Given the description of an element on the screen output the (x, y) to click on. 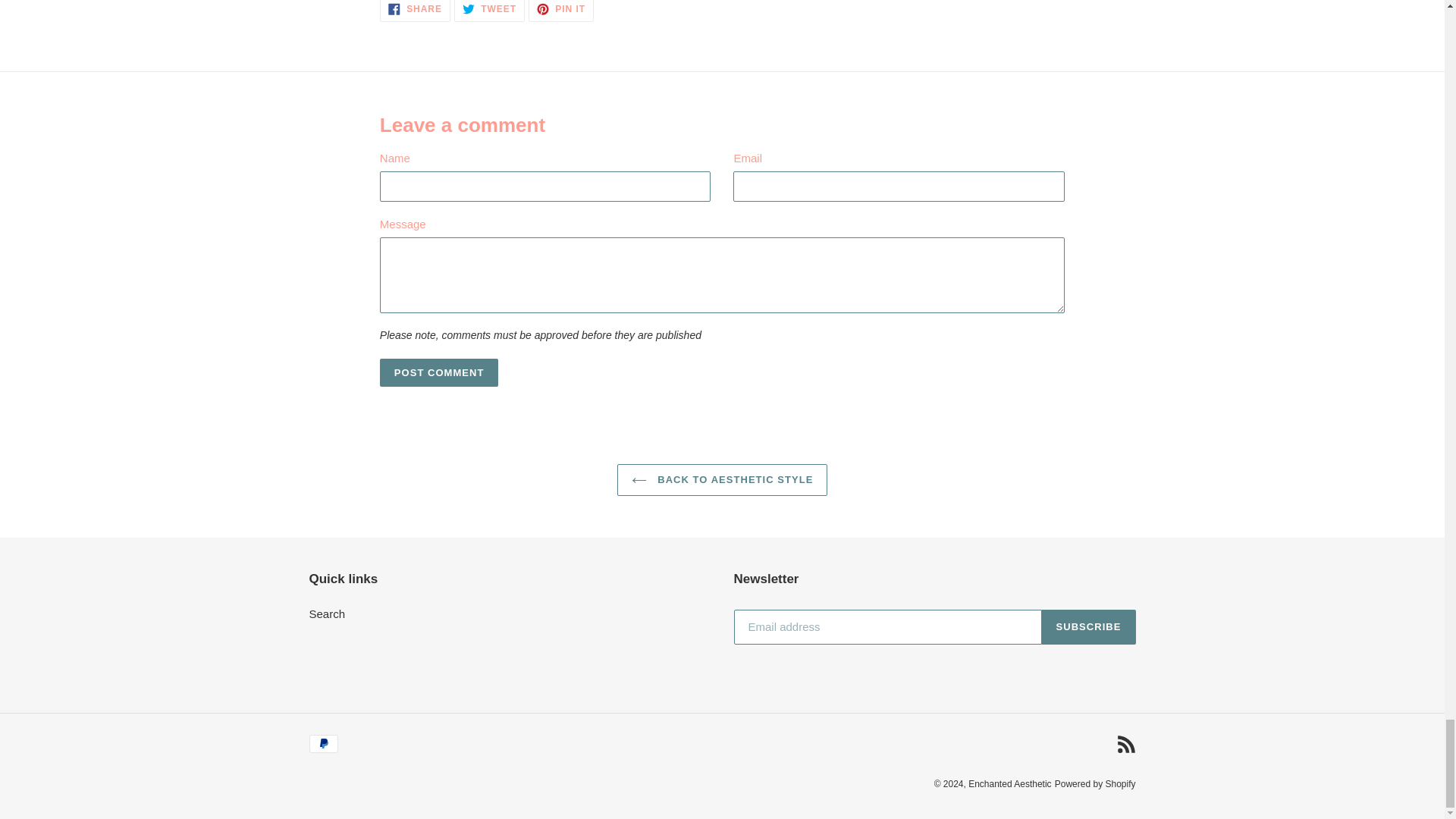
Post comment (439, 372)
BACK TO AESTHETIC STYLE (722, 480)
Post comment (439, 372)
SUBSCRIBE (414, 11)
Enchanted Aesthetic (561, 11)
RSS (1088, 626)
Powered by Shopify (1009, 783)
Search (1125, 743)
